Given the description of an element on the screen output the (x, y) to click on. 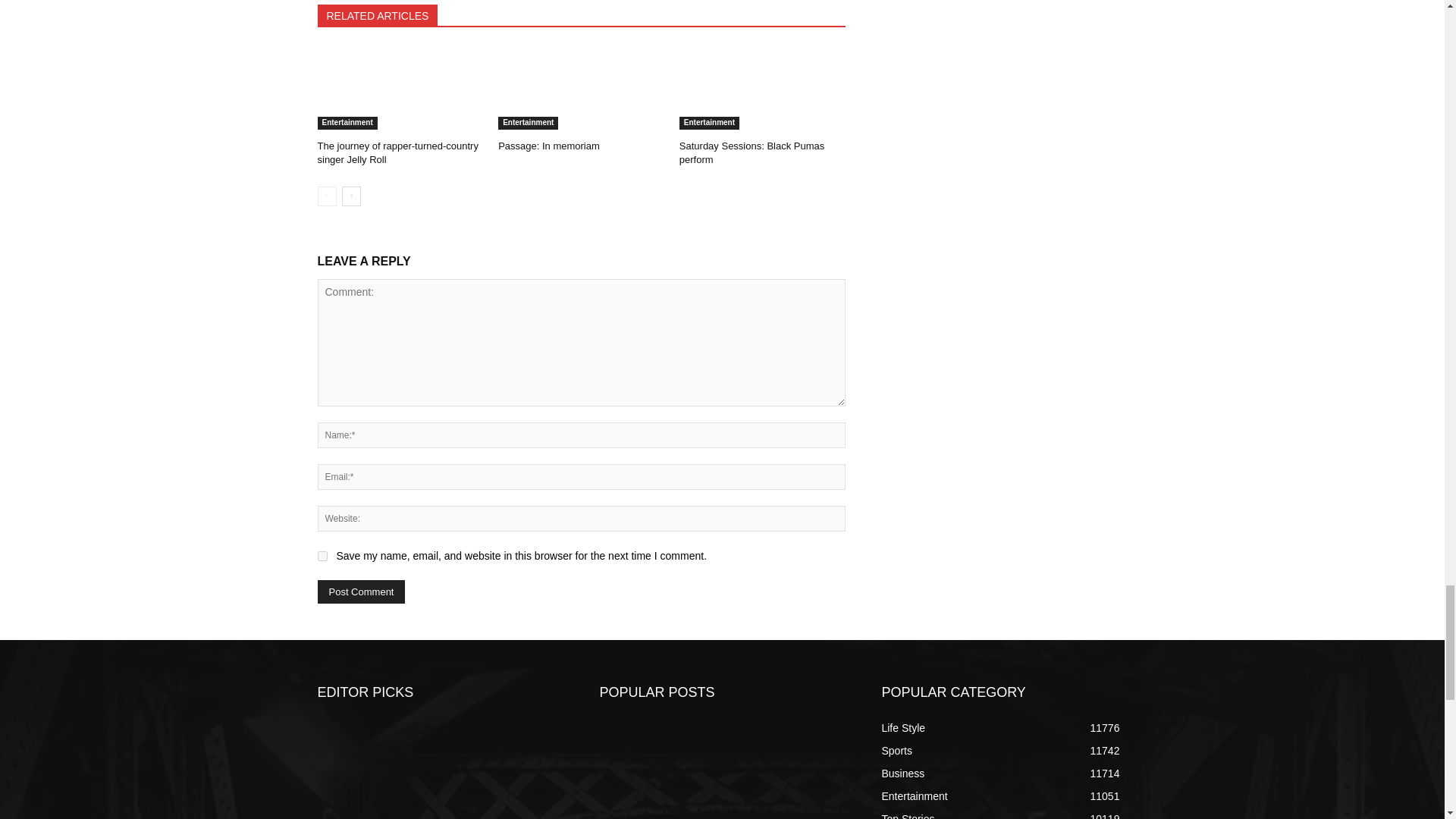
Post Comment (360, 591)
yes (321, 556)
